Given the description of an element on the screen output the (x, y) to click on. 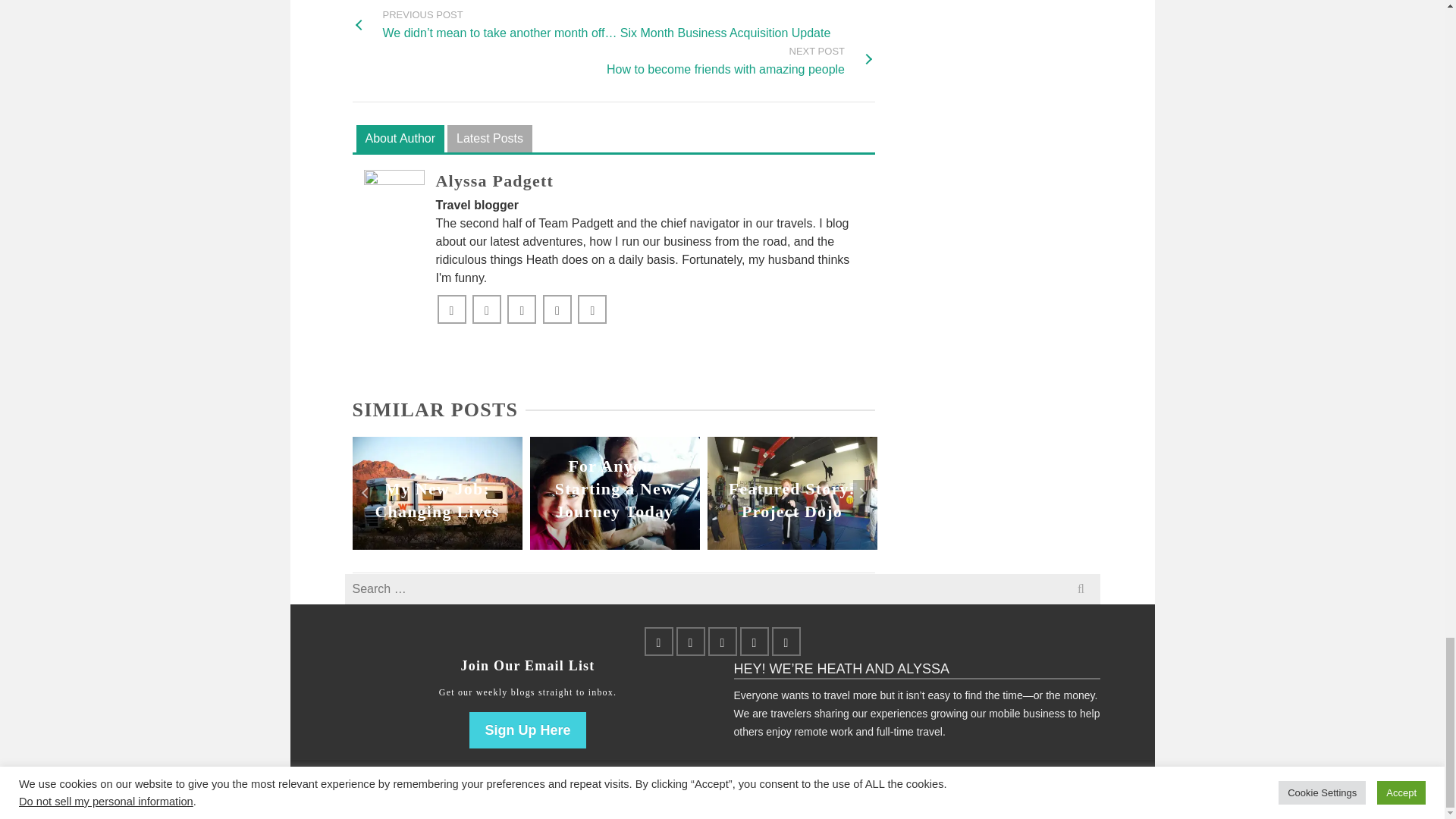
Alyssa Padgett (494, 180)
Follow Alyssa Padgett on Instagram (592, 308)
Follow Alyssa Padgett on Twitter (485, 308)
Latest Posts (741, 60)
Follow Alyssa Padgett on Facebook (489, 139)
Follow Alyssa Padgett on linkedin (450, 308)
About Author (520, 308)
Posts by Alyssa Padgett (400, 139)
Follow Alyssa Padgett on Pinterest (494, 180)
